Given the description of an element on the screen output the (x, y) to click on. 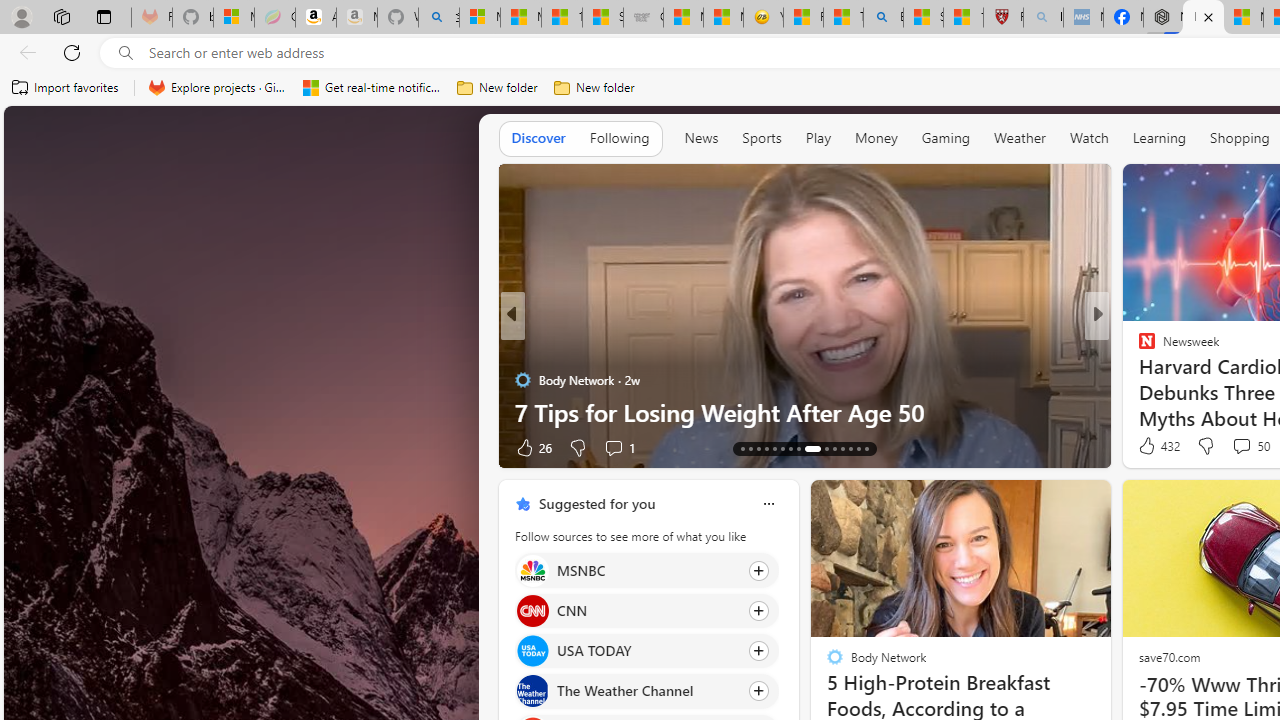
Stocks - MSN (602, 17)
AutomationID: tab-68 (757, 448)
View comments 1 Comment (613, 447)
View comments 14 Comment (1234, 447)
View comments 30 Comment (11, 447)
AutomationID: tab-75 (825, 448)
Gaming (945, 138)
Weather (1019, 138)
View comments 6 Comment (1241, 447)
Watch (1089, 137)
Search icon (125, 53)
Money (875, 137)
